Given the description of an element on the screen output the (x, y) to click on. 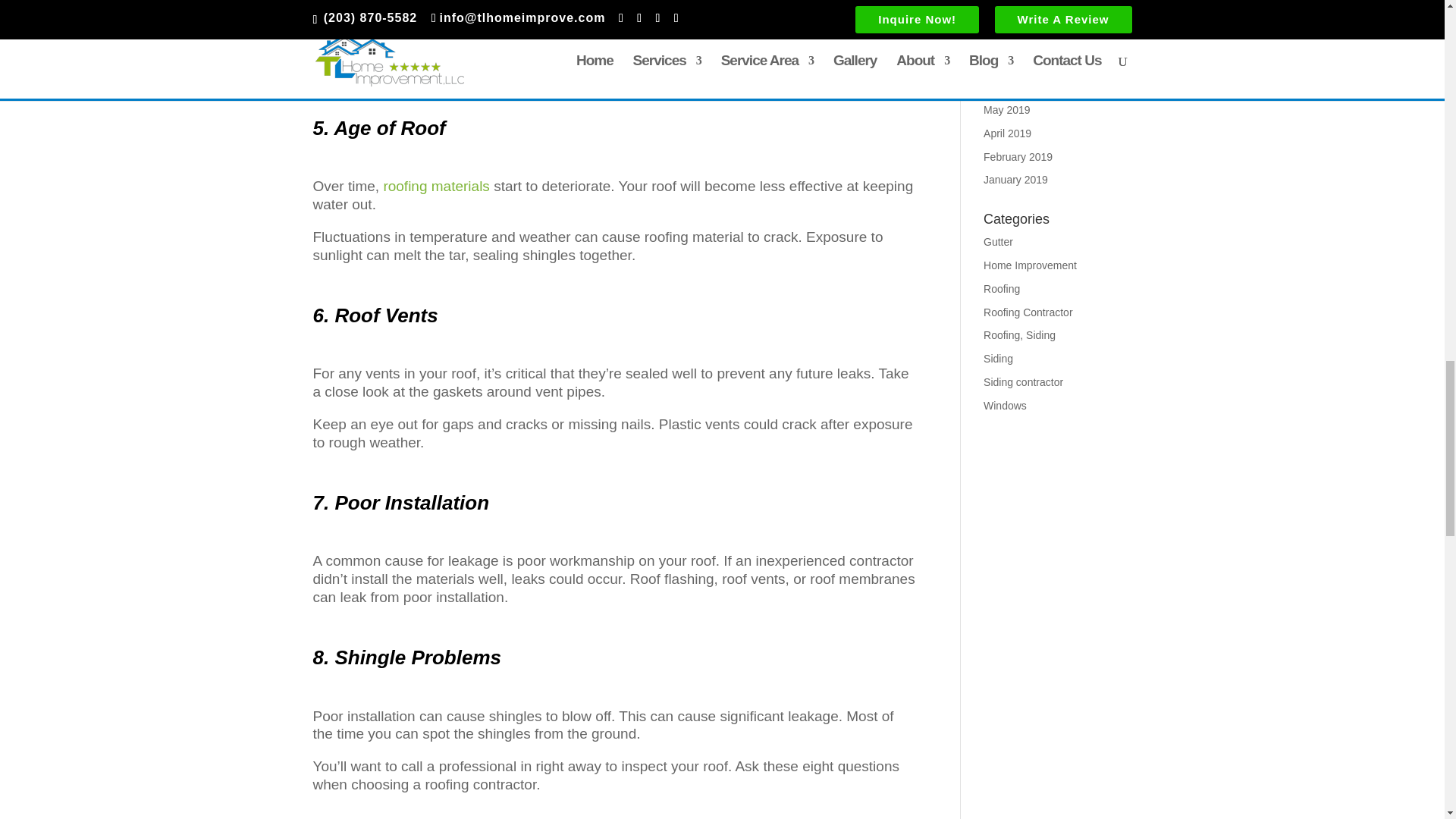
roofing materials (435, 186)
gutters (378, 31)
gutter cover (730, 49)
